Given the description of an element on the screen output the (x, y) to click on. 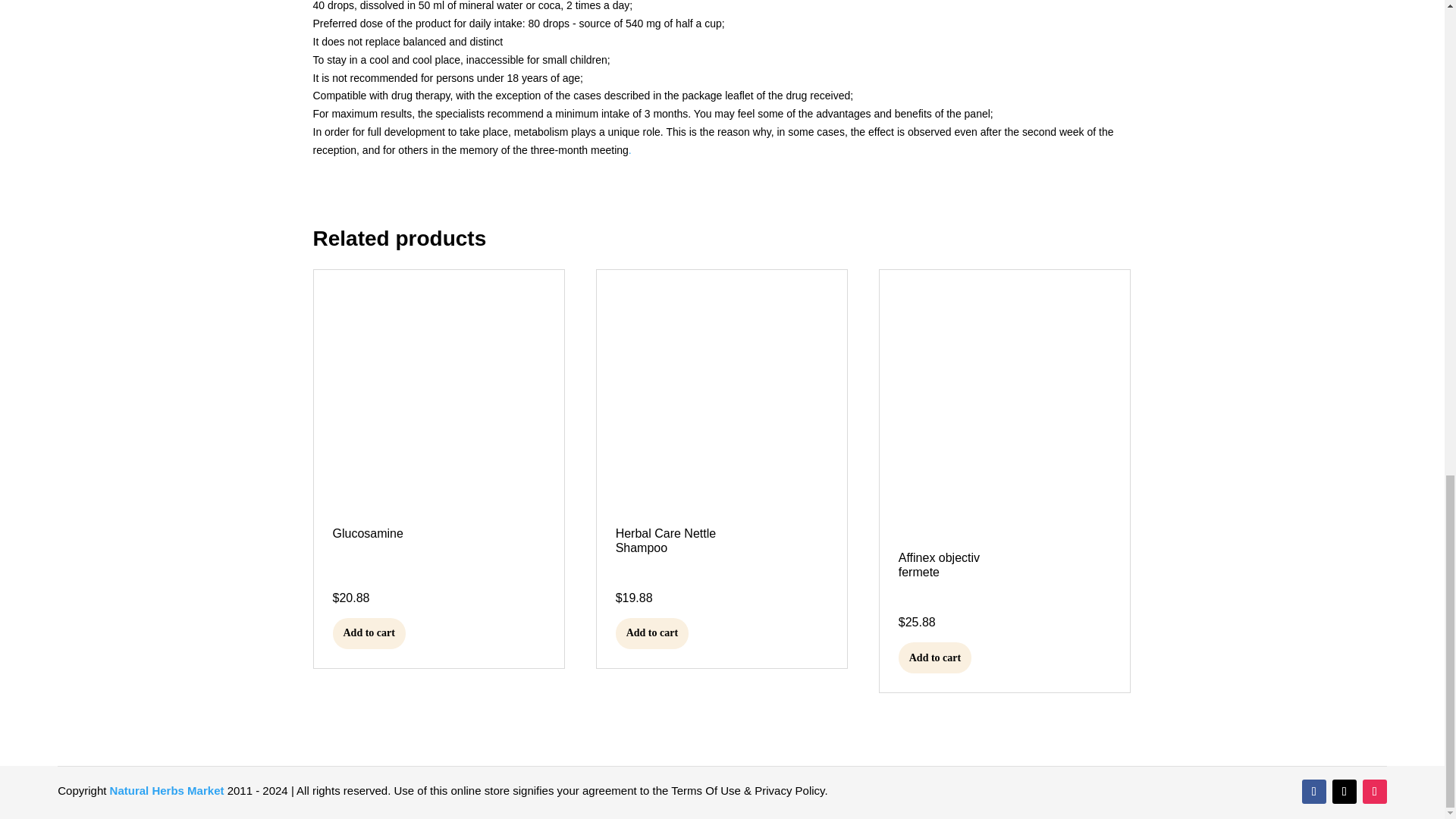
Add to cart (367, 633)
Follow on Facebook (1313, 791)
Add to cart (651, 633)
Follow on Instagram (1374, 791)
Follow on X (1344, 791)
